Given the description of an element on the screen output the (x, y) to click on. 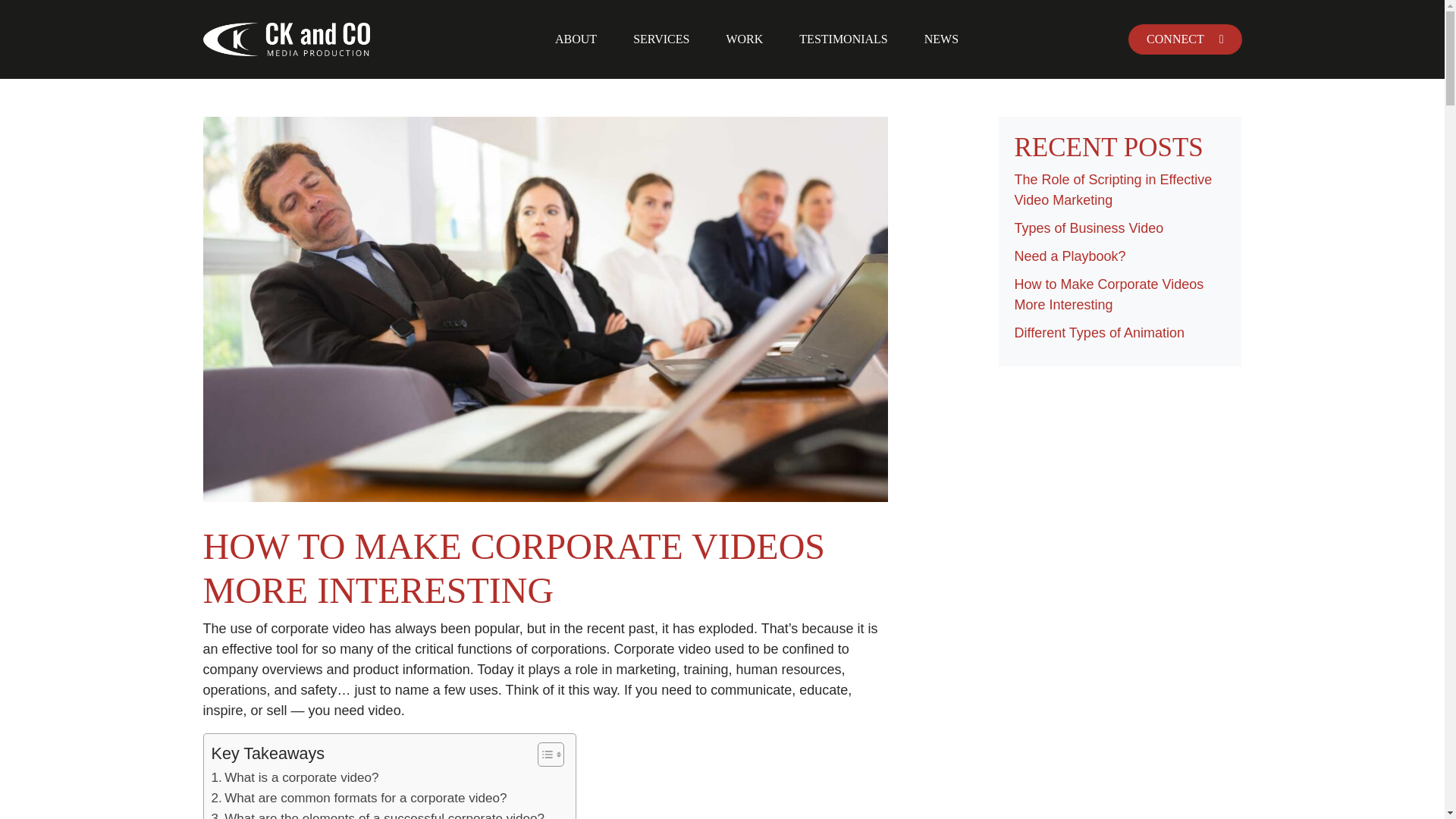
What are the elements of a successful corporate video? (377, 813)
What are the elements of a successful corporate video? (377, 813)
WORK (743, 39)
TESTIMONIALS (842, 39)
SERVICES (660, 39)
CK and CO (286, 39)
What are common formats for a corporate video? (358, 797)
NEWS (940, 39)
What is a corporate video? (294, 777)
CONNECT (1184, 39)
